Given the description of an element on the screen output the (x, y) to click on. 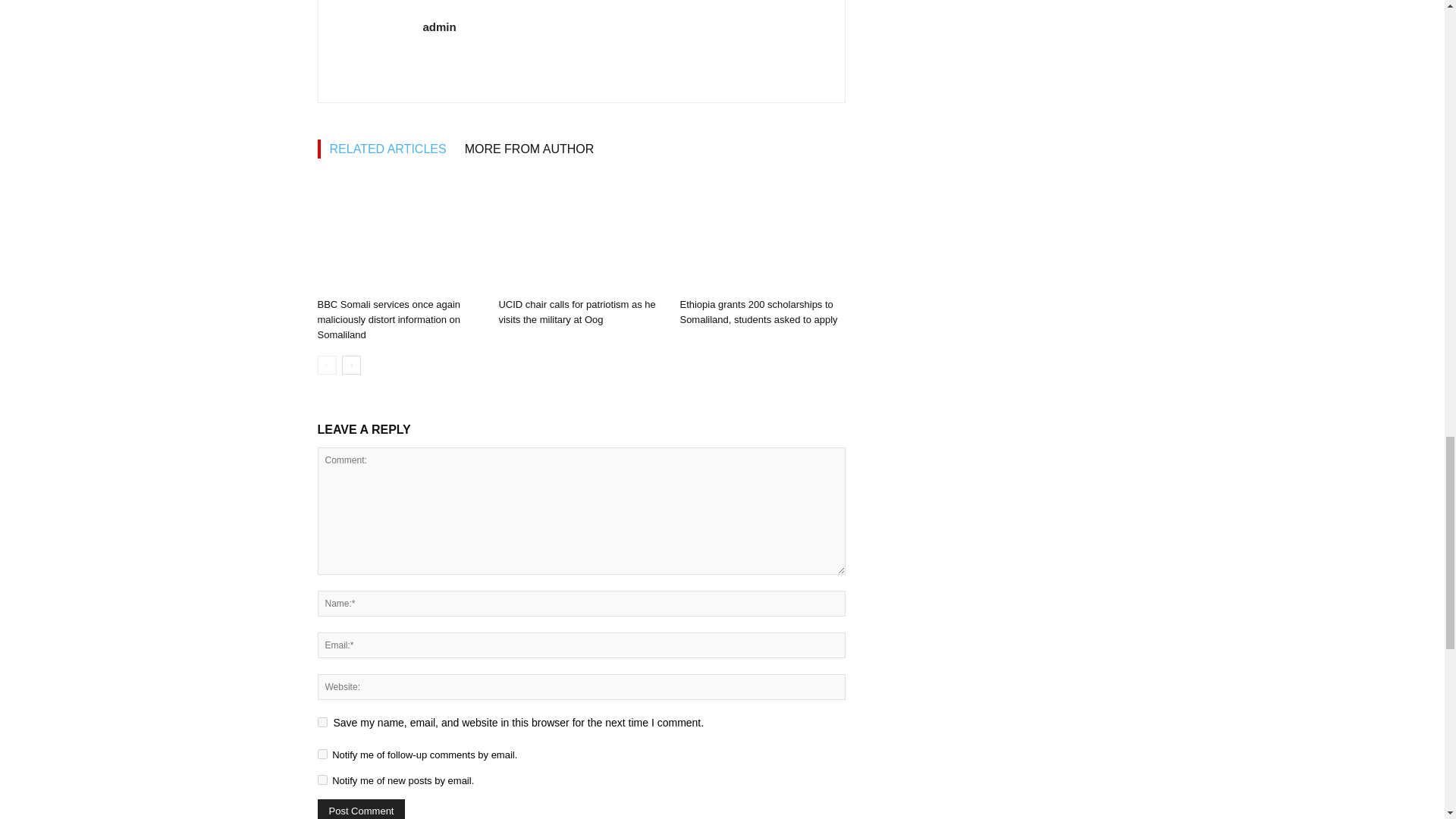
subscribe (321, 754)
subscribe (321, 779)
yes (321, 722)
Post Comment (360, 809)
